Given the description of an element on the screen output the (x, y) to click on. 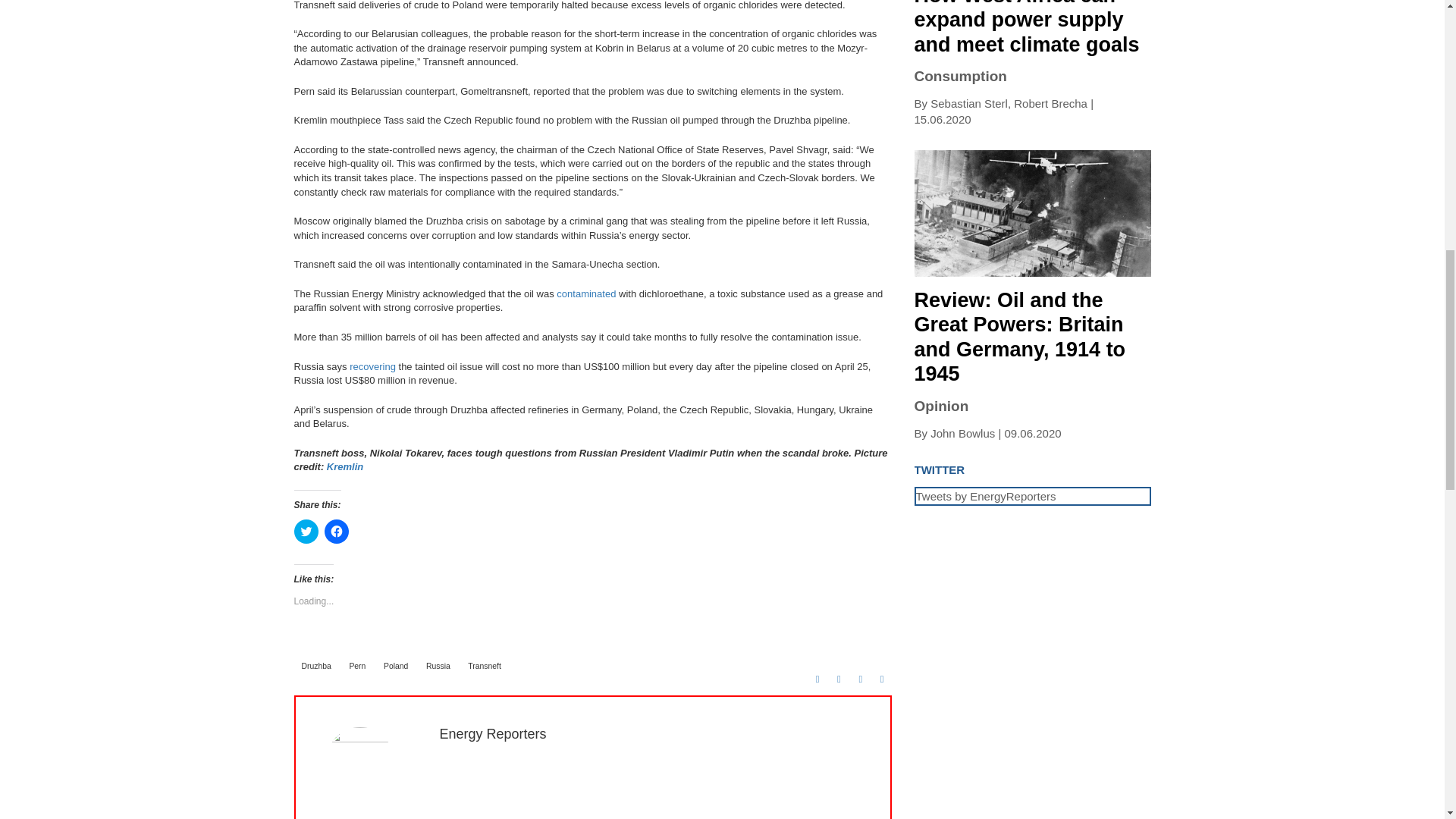
Send Email (881, 679)
Click to share on Twitter (306, 531)
Twitter (838, 679)
Click to share on Facebook (336, 531)
Facebook (817, 679)
contaminated (585, 293)
Kremlin (344, 466)
recovering (372, 366)
Print (859, 679)
